Given the description of an element on the screen output the (x, y) to click on. 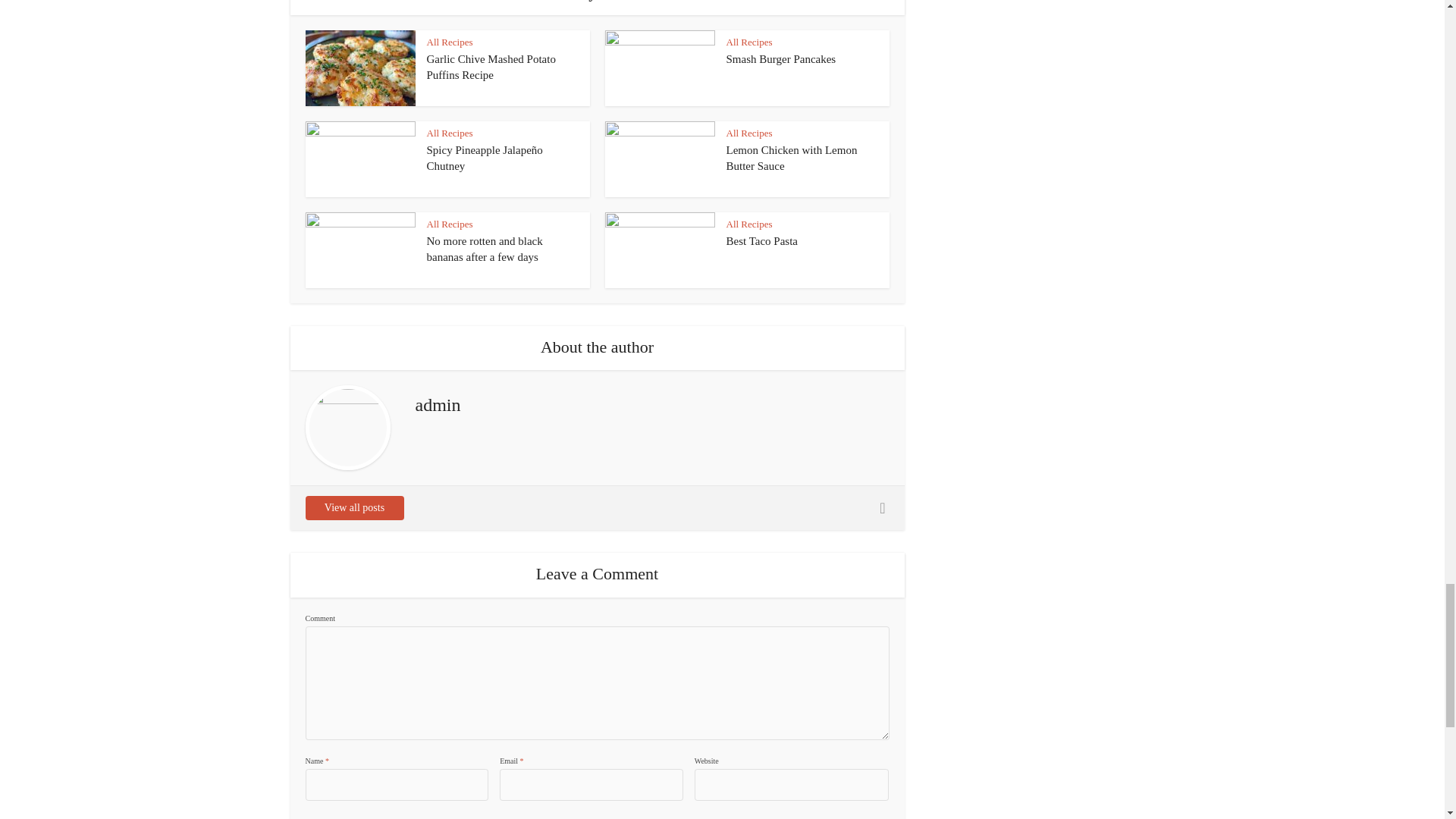
Garlic Chive Mashed Potato Puffins Recipe (490, 66)
Smash Burger Pancakes (780, 59)
No more rotten and black bananas after a few days (483, 248)
Best Taco Pasta (761, 241)
Garlic Chive Mashed Potato Puffins Recipe (490, 66)
All Recipes (749, 41)
Lemon Chicken with Lemon Butter Sauce (791, 157)
All Recipes (448, 41)
Smash Burger Pancakes (780, 59)
